Given the description of an element on the screen output the (x, y) to click on. 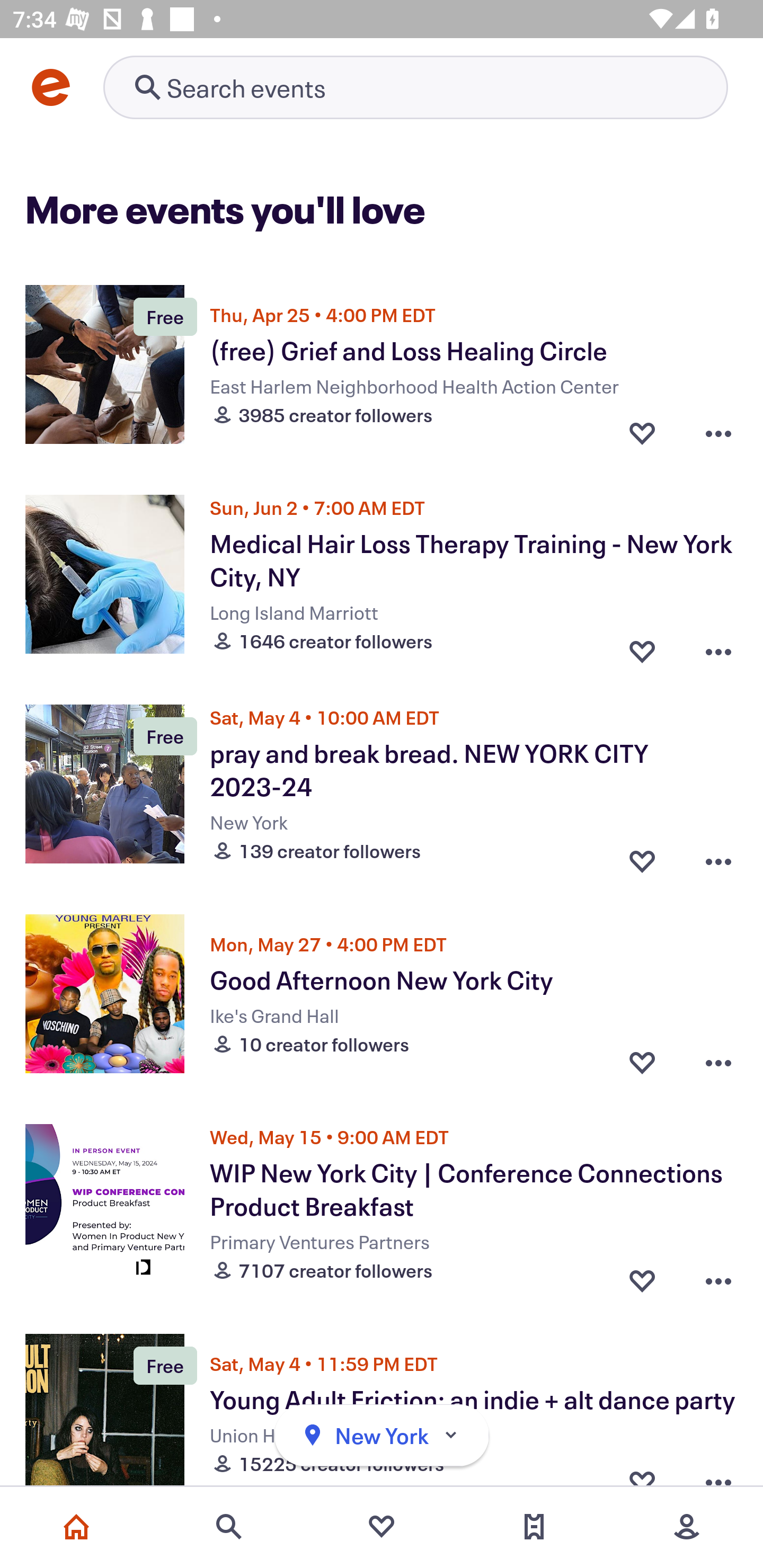
Retry's image Search events (415, 86)
Favorite button (642, 431)
Overflow menu button (718, 431)
Favorite button (642, 646)
Overflow menu button (718, 646)
Favorite button (642, 856)
Overflow menu button (718, 856)
Favorite button (642, 1062)
Overflow menu button (718, 1062)
Favorite button (642, 1275)
Overflow menu button (718, 1275)
New York (381, 1435)
Home (76, 1526)
Search events (228, 1526)
Favorites (381, 1526)
Tickets (533, 1526)
More (686, 1526)
